Given the description of an element on the screen output the (x, y) to click on. 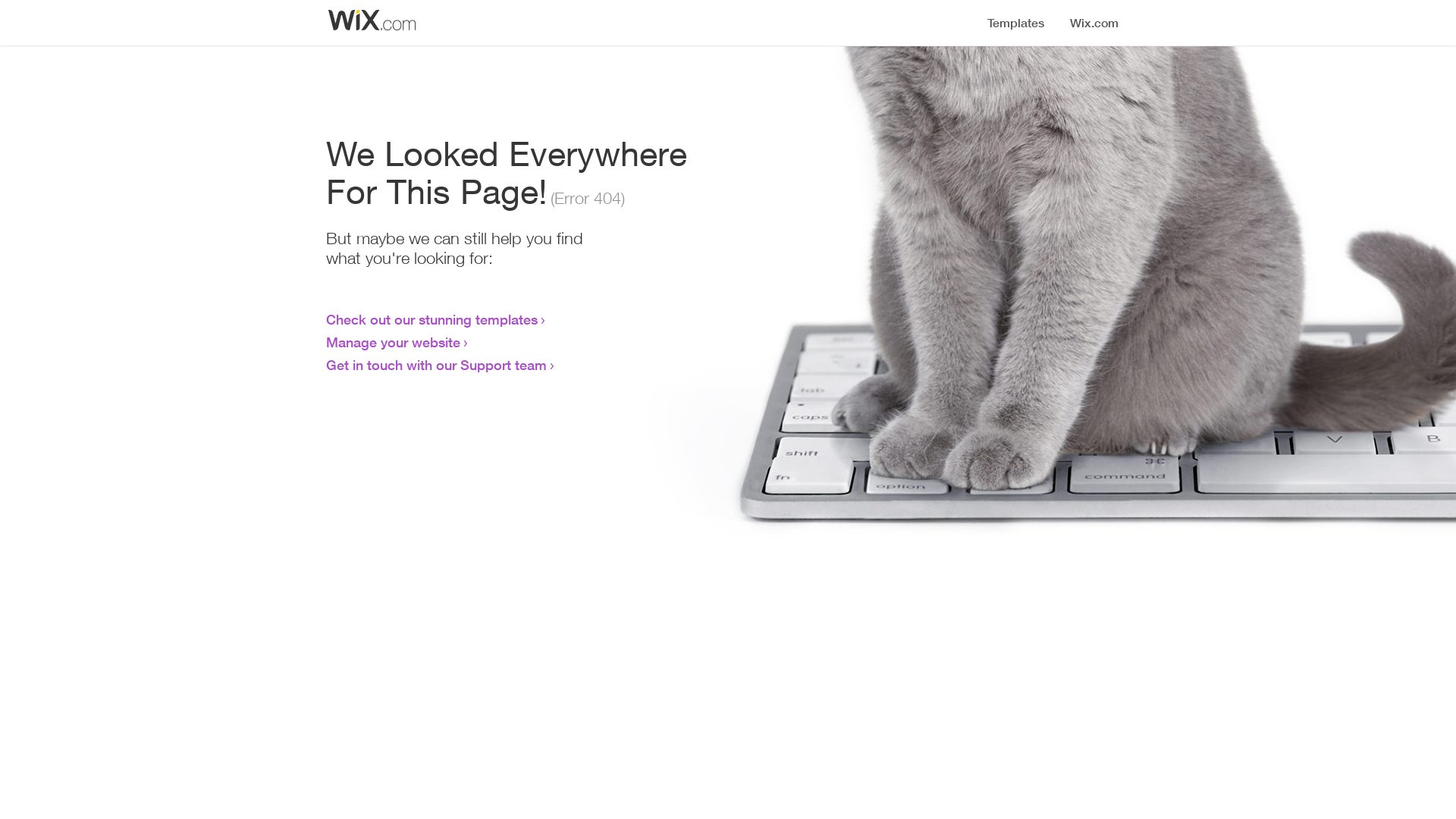
Manage your website Element type: text (393, 341)
Check out our stunning templates Element type: text (431, 318)
Get in touch with our Support team Element type: text (436, 364)
